Given the description of an element on the screen output the (x, y) to click on. 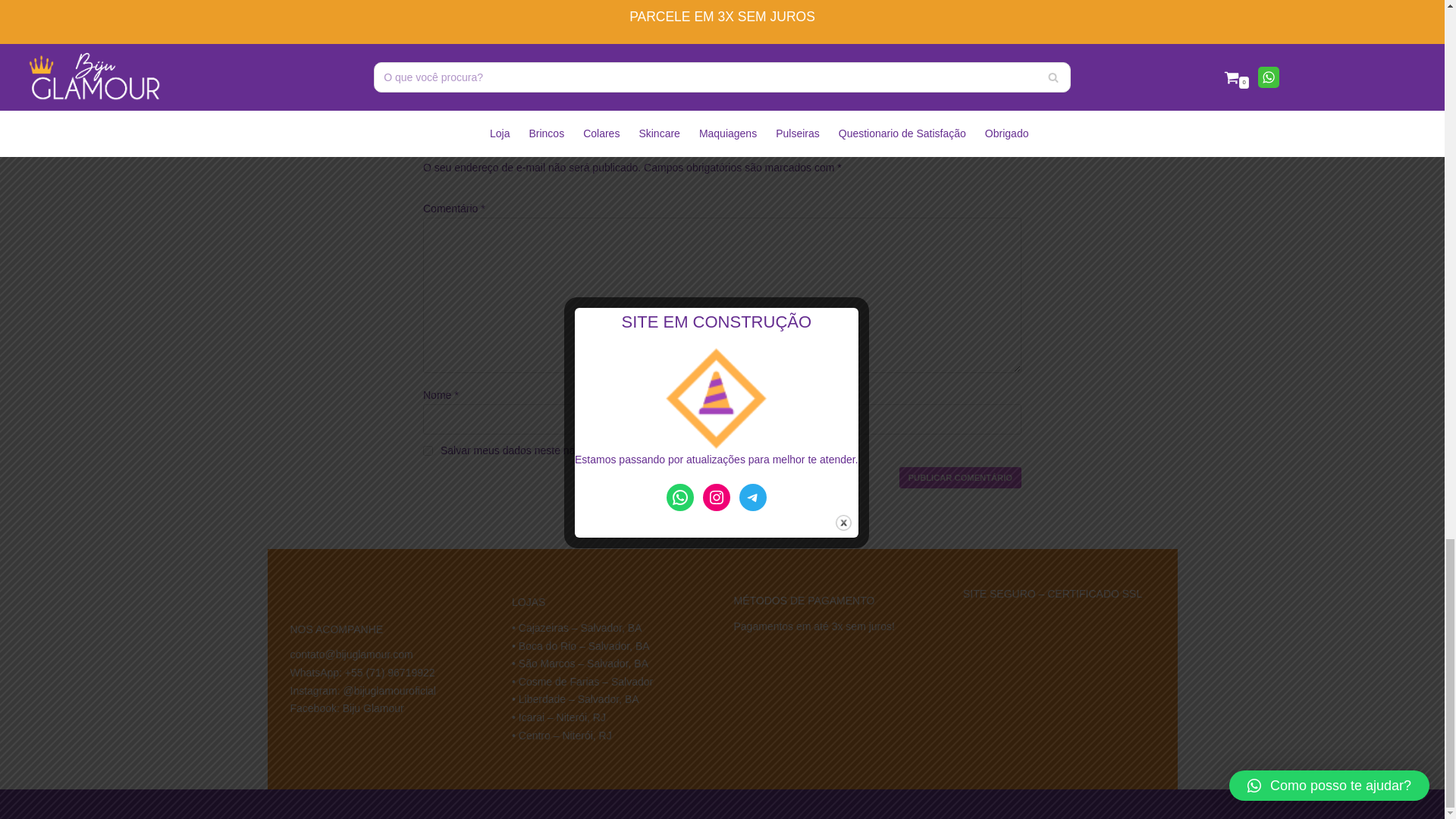
Site Seguro - Certificado SSL (1054, 648)
yes (427, 450)
